Given the description of an element on the screen output the (x, y) to click on. 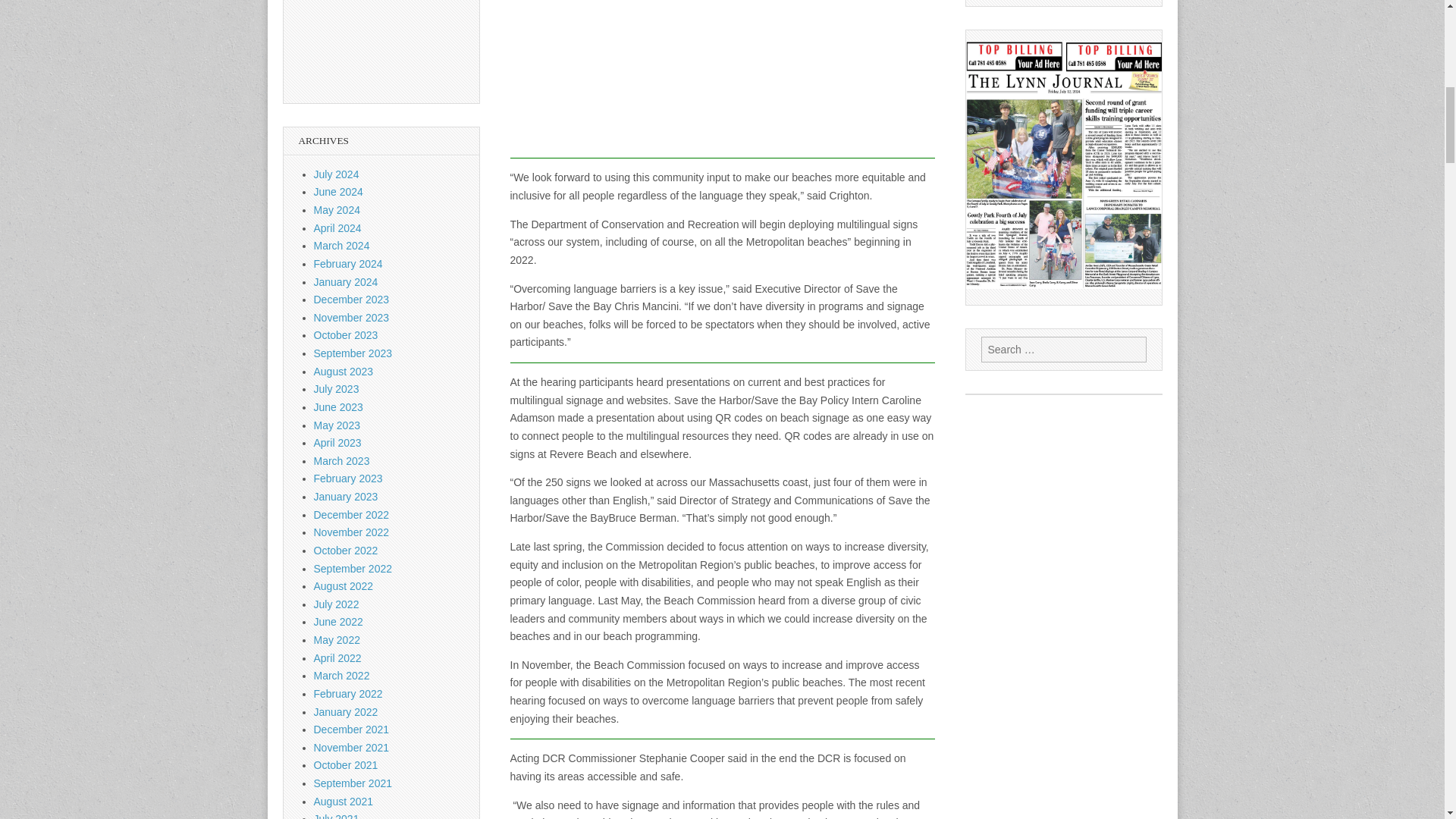
June 2024 (338, 191)
May 2024 (336, 209)
November 2023 (352, 317)
July 2024 (336, 174)
December 2023 (352, 299)
March 2024 (341, 245)
April 2024 (337, 227)
January 2024 (346, 282)
February 2024 (348, 263)
Advertisement (721, 79)
